Given the description of an element on the screen output the (x, y) to click on. 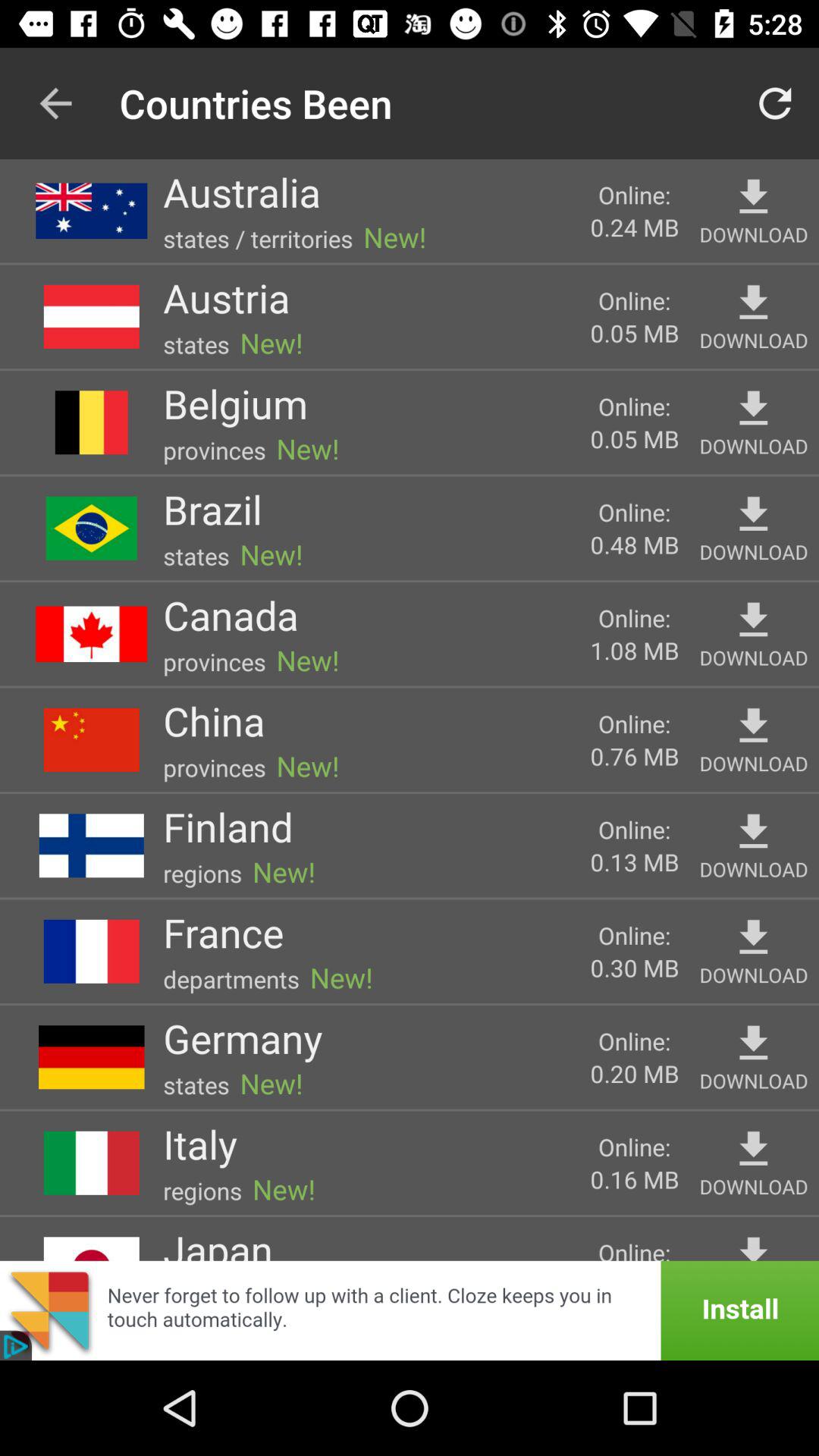
download italy (753, 1149)
